Given the description of an element on the screen output the (x, y) to click on. 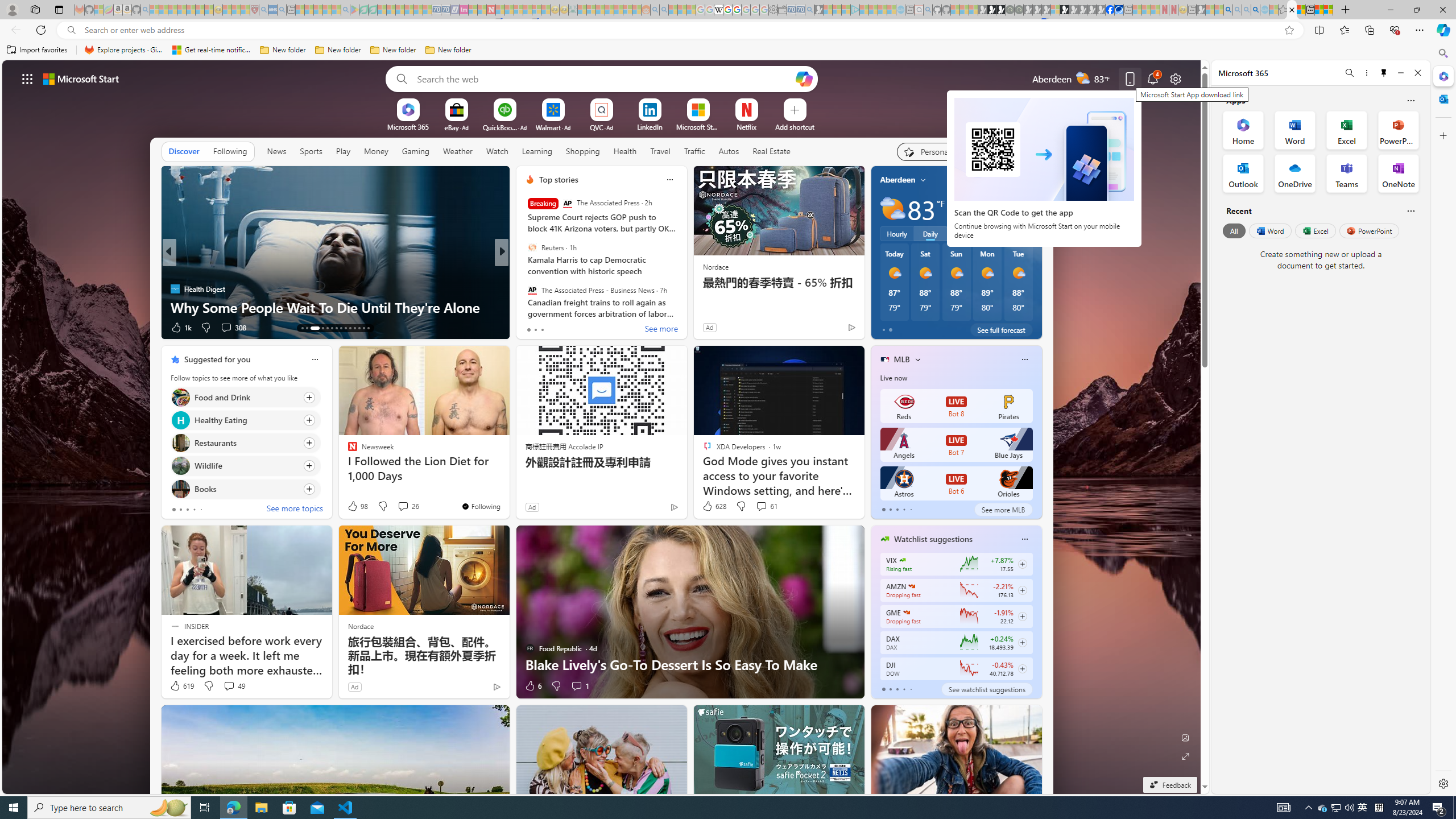
Reuters (532, 247)
AutomationID: tab-17 (327, 328)
tab-0 (882, 689)
tab-3 (903, 689)
Dagens News (US) (524, 288)
Home Office App (1243, 129)
View comments 3 Comment (576, 327)
ZDNet (524, 270)
28 Like (530, 327)
